Given the description of an element on the screen output the (x, y) to click on. 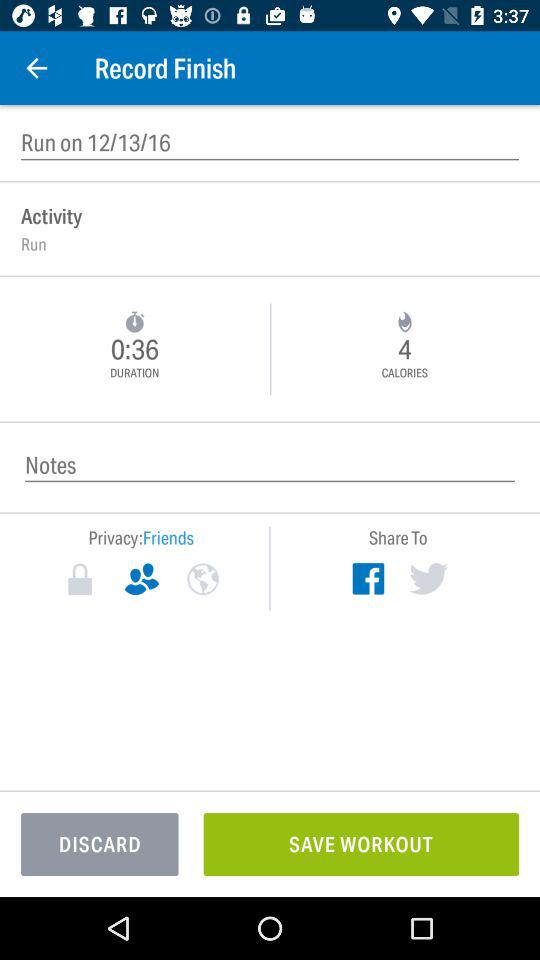
share to facebook (368, 578)
